Given the description of an element on the screen output the (x, y) to click on. 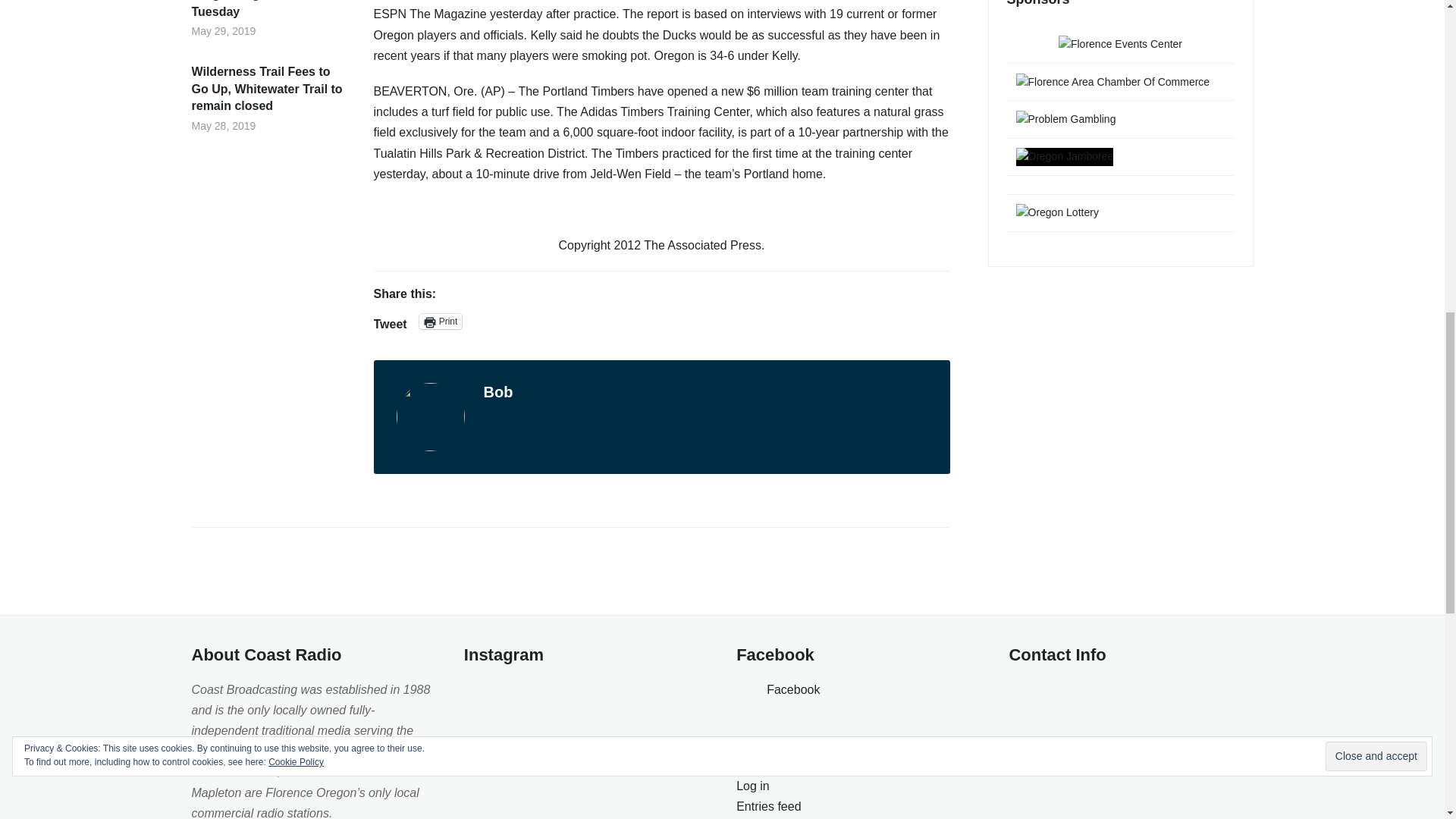
Posts by Bob (498, 392)
Permalink to Oregon Legislature Stalls Tuesday (266, 10)
Click to print (441, 321)
